Given the description of an element on the screen output the (x, y) to click on. 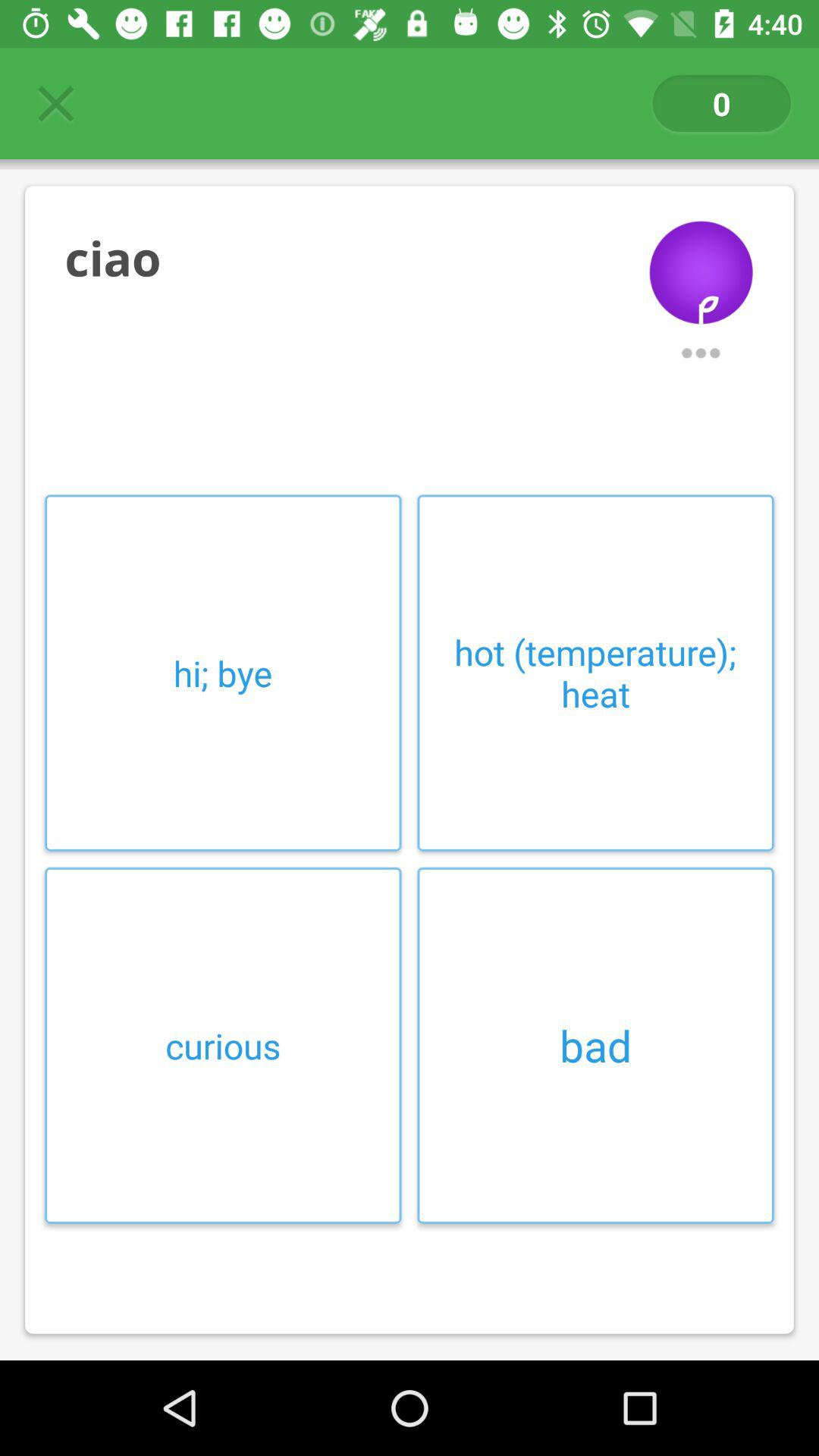
choose bad item (595, 1045)
